Given the description of an element on the screen output the (x, y) to click on. 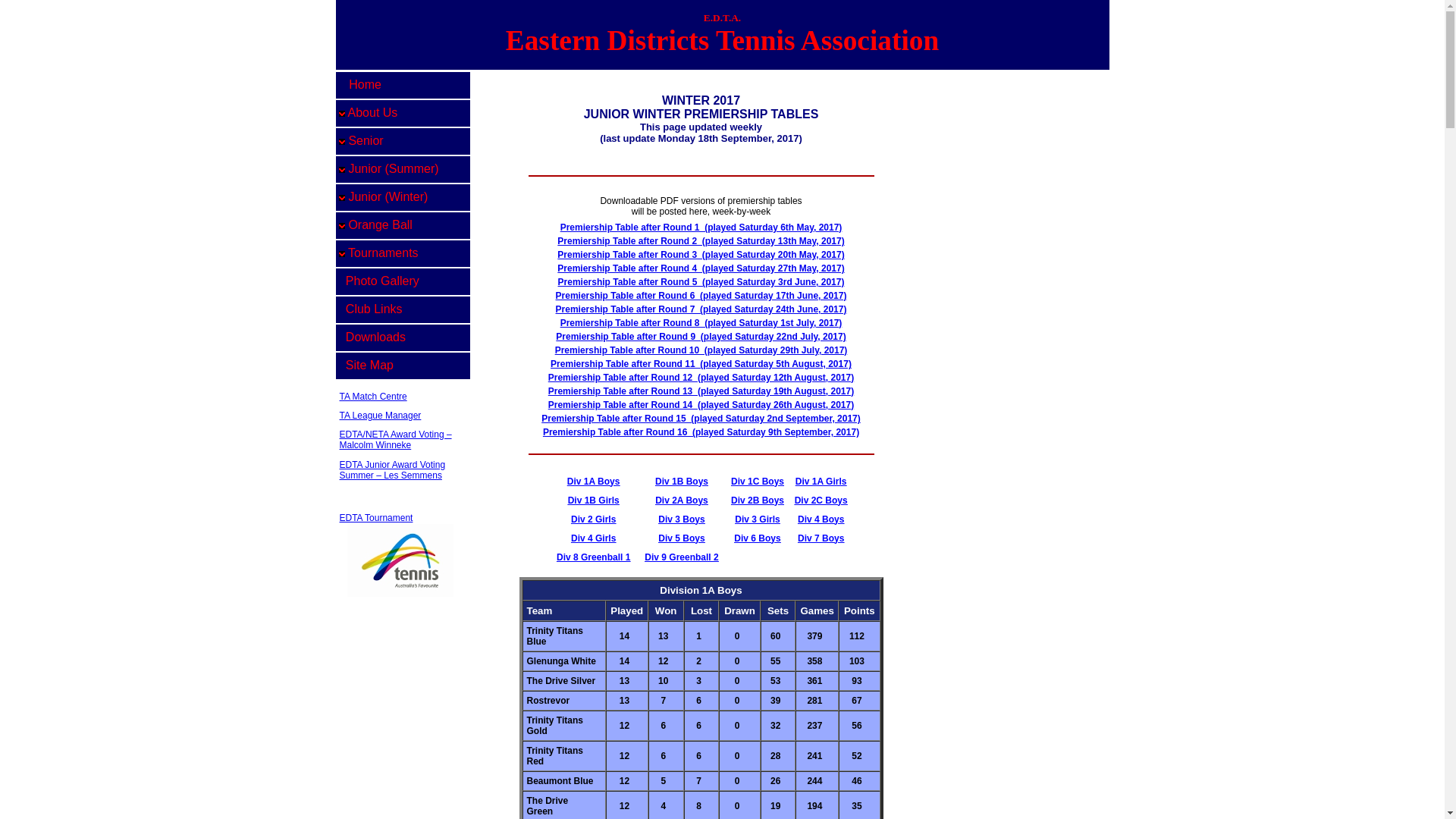
Div 6 Boys Element type: text (757, 537)
TA League Manager Element type: text (380, 415)
TA Match Centre Element type: text (373, 396)
  Junior (Summer) Element type: text (402, 169)
Div 2A Boys Element type: text (681, 499)
Div 1B Girls Element type: text (593, 499)
  Tournaments Element type: text (402, 253)
Div 1A Boys Element type: text (593, 481)
EDTA Tournament Element type: text (376, 517)
Div 4 Boys Element type: text (820, 519)
Div 2B Boys Element type: text (757, 499)
  Orange Ball Element type: text (402, 225)
   Photo Gallery Element type: text (402, 281)
Div 1C Boys Element type: text (757, 481)
Div 5 Boys Element type: text (681, 537)
Div 3 Boys Element type: text (681, 519)
Div 2C Boys Element type: text (820, 499)
Div 1B Boys Element type: text (681, 481)
  Senior Element type: text (402, 141)
   Downloads Element type: text (402, 337)
Div 4 Girls Element type: text (593, 537)
    Home Element type: text (402, 85)
   Site Map Element type: text (402, 365)
  Junior (Winter) Element type: text (402, 197)
  About Us Element type: text (402, 113)
   Club Links Element type: text (402, 309)
Div 8 Greenball 1 Element type: text (593, 557)
Div 2 Girls Element type: text (593, 519)
Div 3 Girls Element type: text (756, 519)
Div 7 Boys Element type: text (820, 537)
Division 1A Boys Element type: text (700, 590)
Div 9 Greenball 2 Element type: text (681, 557)
Div 1A Girls Element type: text (821, 481)
